Given the description of an element on the screen output the (x, y) to click on. 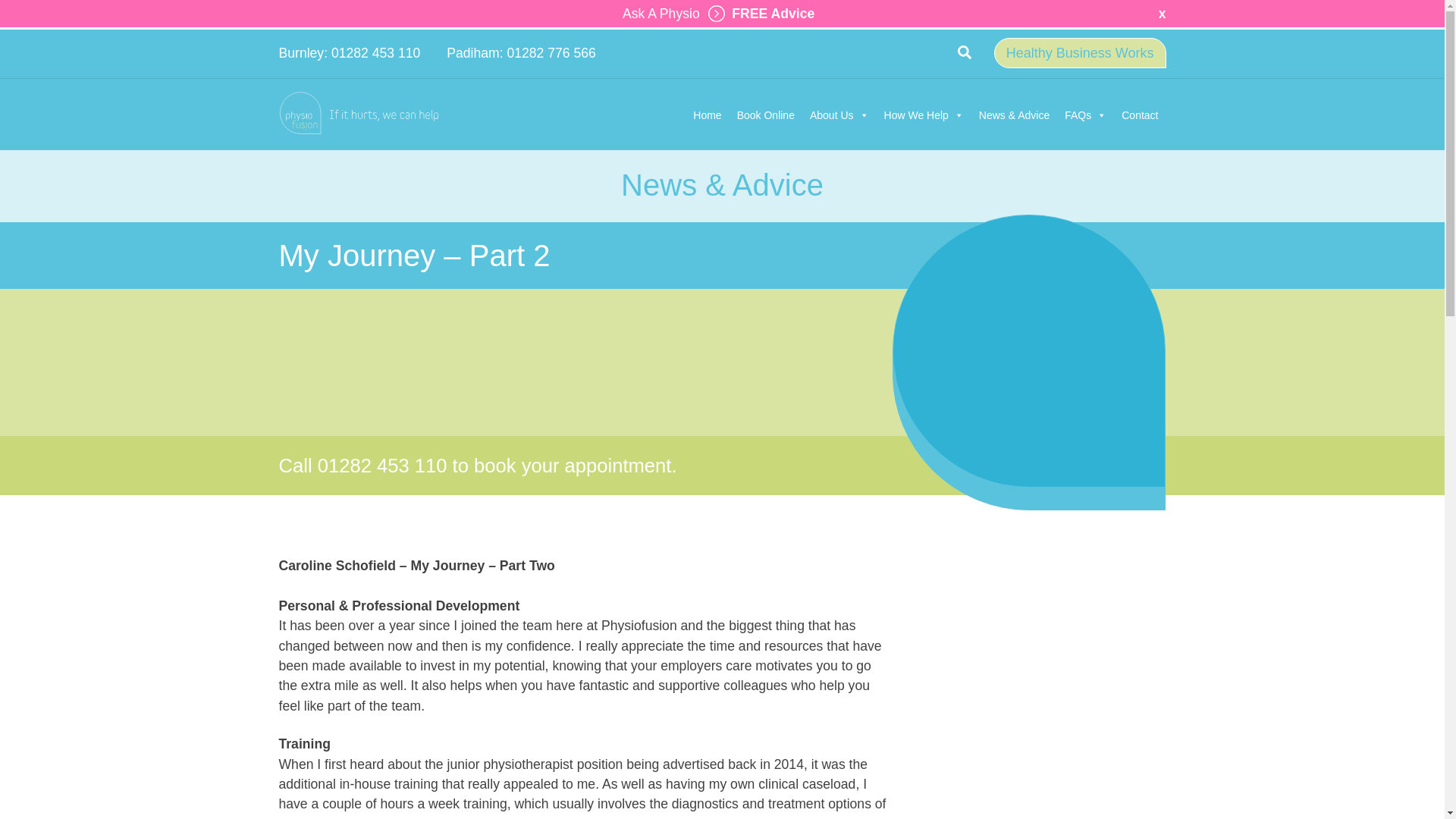
Home (707, 114)
Padiham: 01282 776 566 (520, 52)
Healthy Business Works (1080, 52)
About Us (839, 114)
How We Help (923, 114)
    FREE Advice (757, 13)
Book Online (765, 114)
Contact (1139, 114)
Burnley: 01282 453 110 (349, 52)
FAQs (1085, 114)
